Given the description of an element on the screen output the (x, y) to click on. 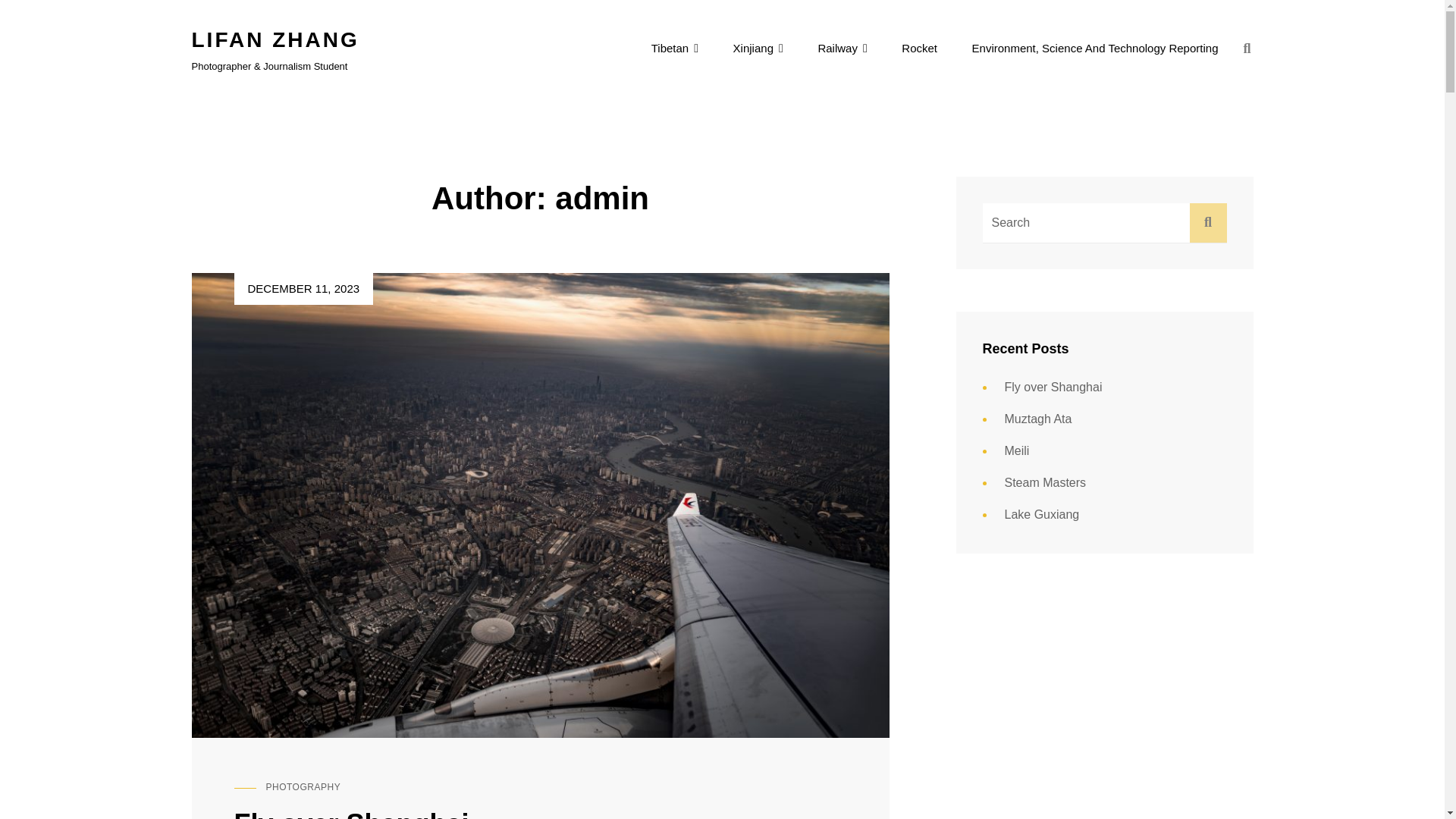
Environment, Science And Technology Reporting (1094, 48)
LIFAN ZHANG (274, 39)
Xinjiang (757, 48)
Railway (842, 48)
SEARCH (1246, 48)
Tibetan (674, 48)
Fly over Shanghai (350, 813)
PHOTOGRAPHY (302, 787)
DECEMBER 11, 2023 (302, 288)
Rocket (919, 48)
